Given the description of an element on the screen output the (x, y) to click on. 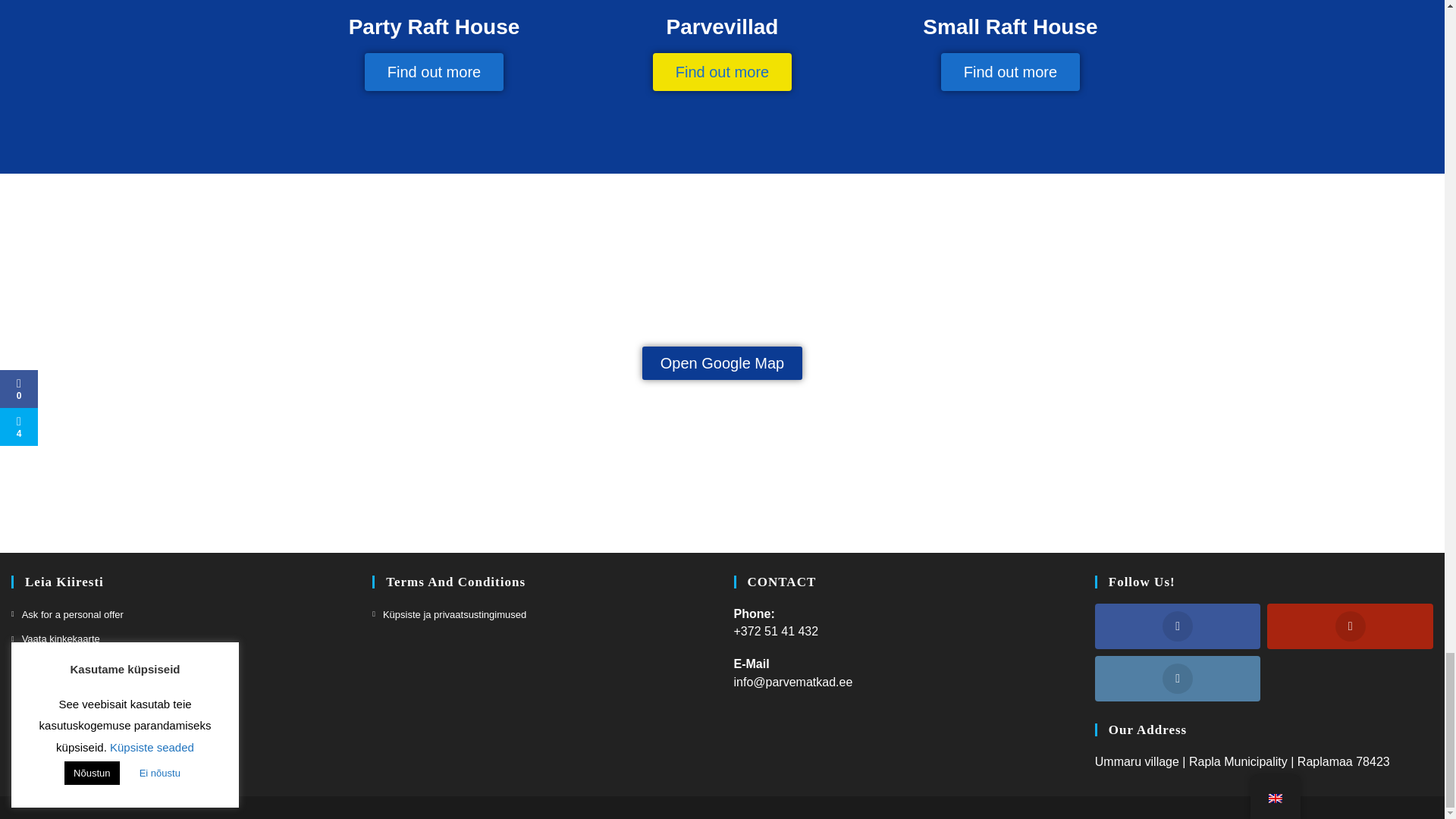
Find out more (434, 71)
Ask for a personal offer (67, 614)
Find out more (1010, 71)
Find out more (722, 71)
Open Google Map (722, 363)
